Given the description of an element on the screen output the (x, y) to click on. 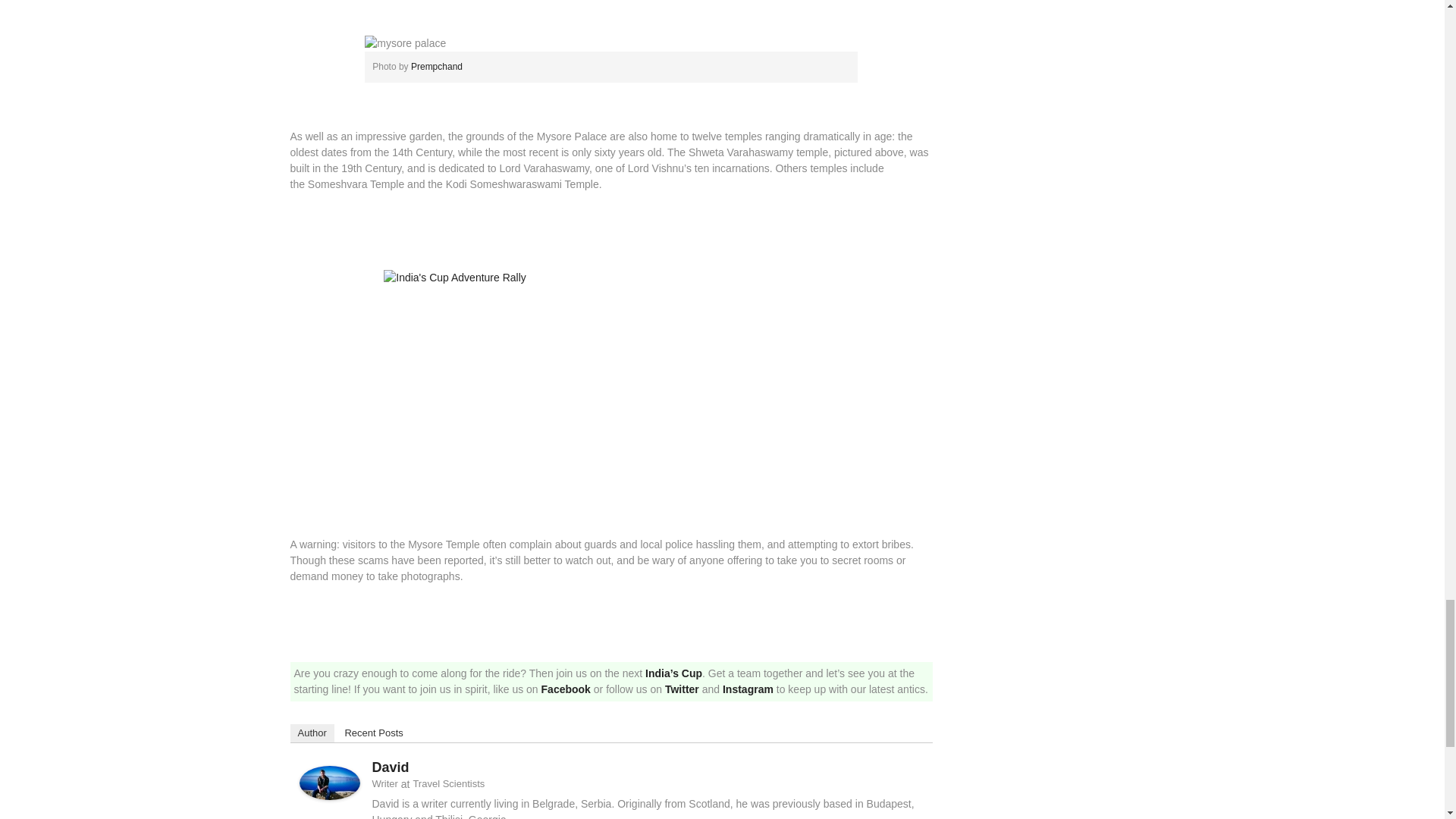
Author (311, 732)
David (390, 767)
Instagram (747, 689)
Twitter (681, 689)
David (328, 782)
Facebook (566, 689)
Prempchand (436, 66)
Recent Posts (373, 732)
